Given the description of an element on the screen output the (x, y) to click on. 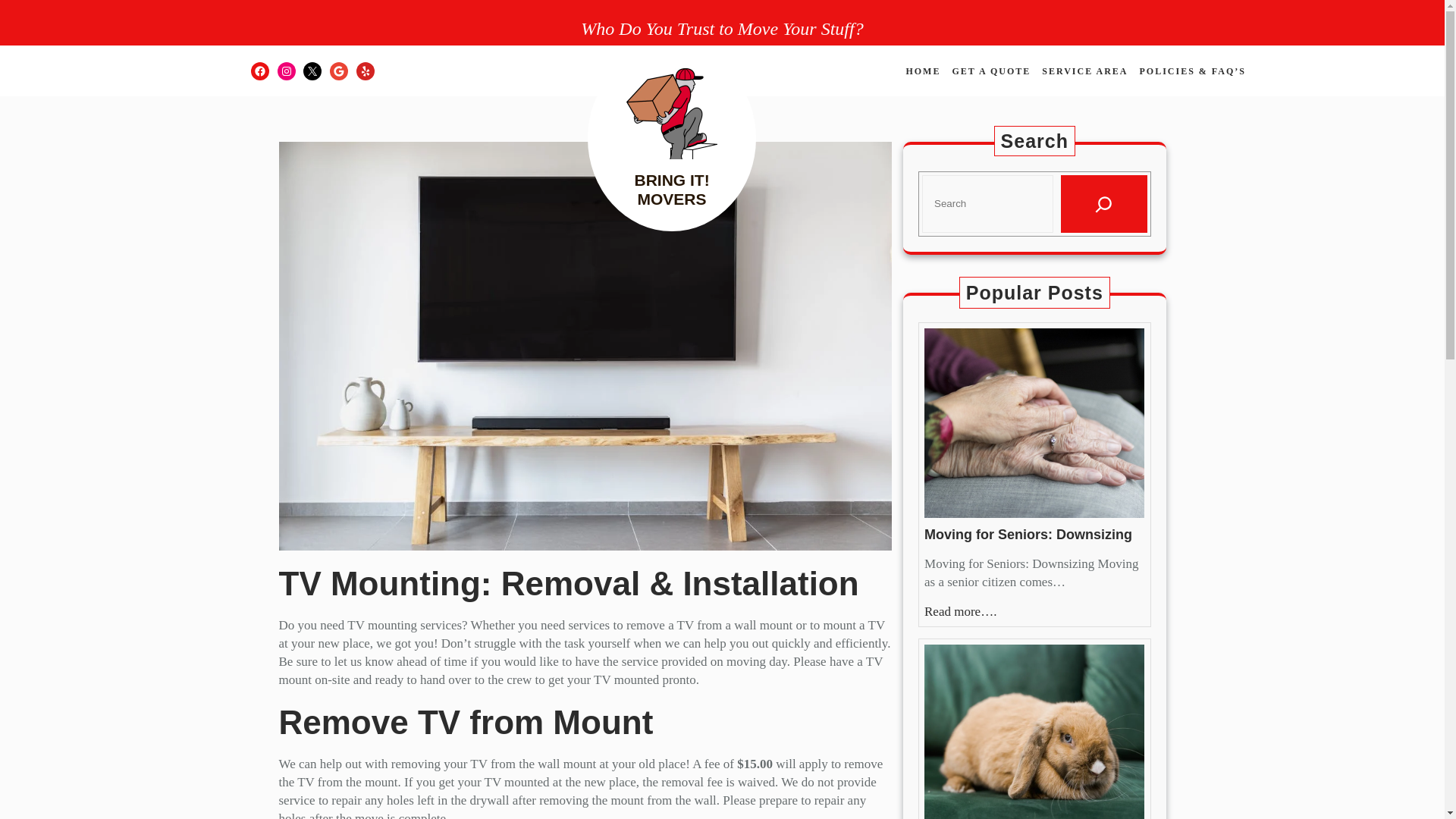
Google (338, 71)
Moving for Seniors: Downsizing (1028, 534)
HOME (922, 71)
Yelp (365, 71)
GET A QUOTE (991, 71)
SERVICE AREA (1084, 71)
BRING IT! MOVERS (671, 189)
X (311, 71)
Instagram (286, 71)
Facebook (259, 71)
